Given the description of an element on the screen output the (x, y) to click on. 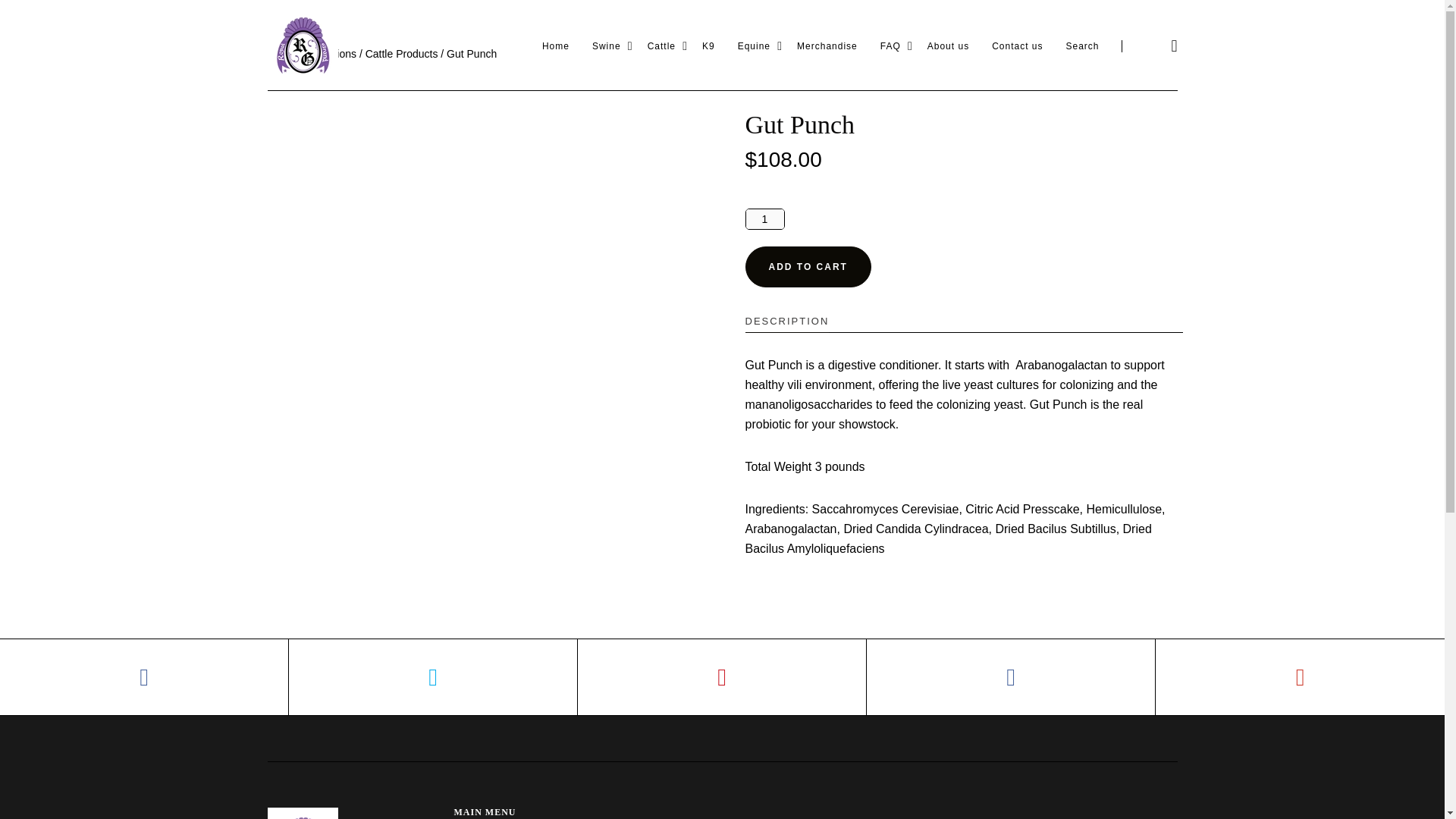
Add to cart (807, 265)
Contact us (1016, 46)
About us (948, 46)
Equine (754, 46)
Search (1082, 46)
1 (764, 219)
Home (555, 46)
Cattle (661, 46)
Swine (606, 46)
FAQ (890, 46)
